Given the description of an element on the screen output the (x, y) to click on. 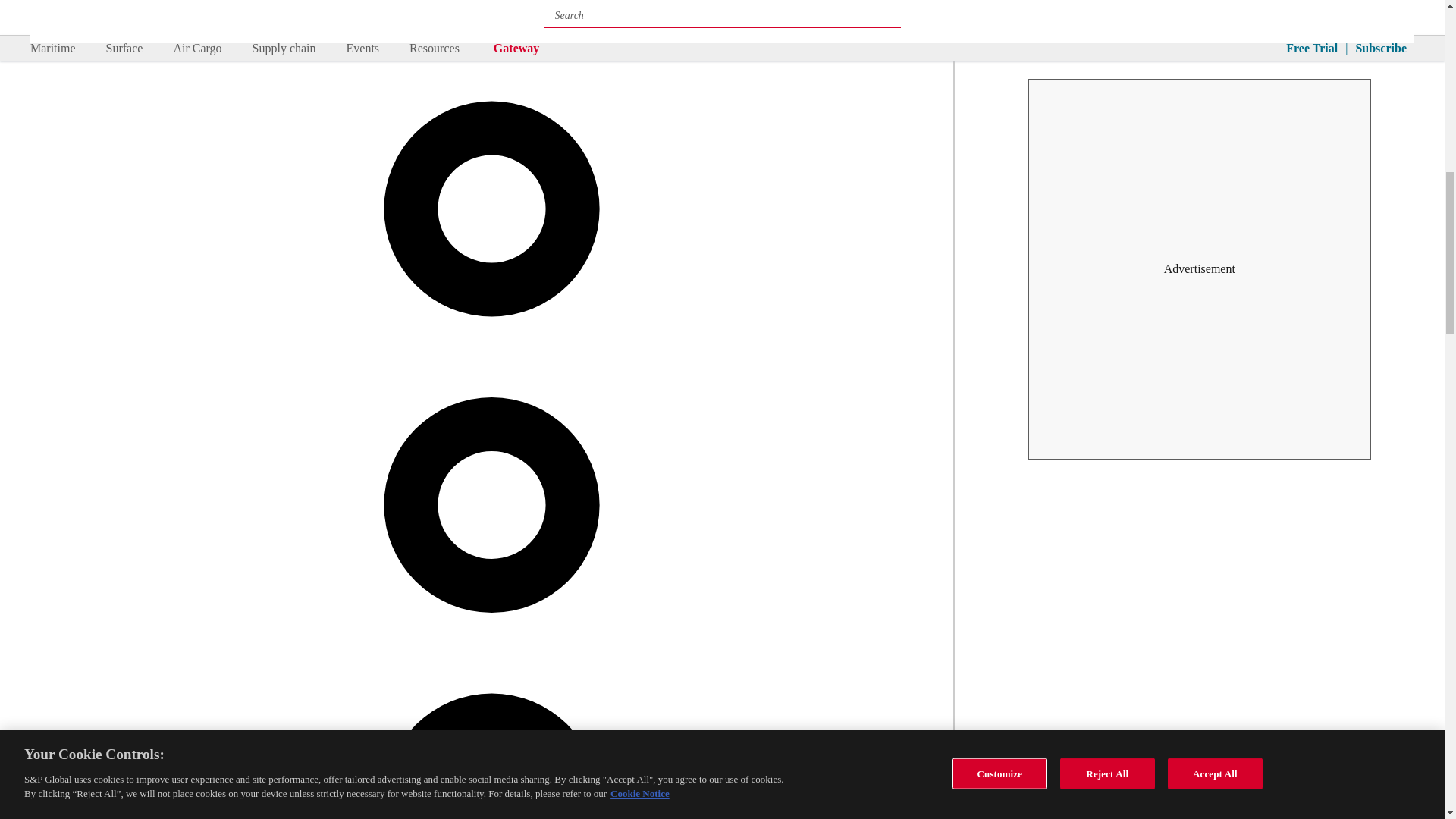
3rd party ad content (1199, 24)
3rd party ad content (1199, 268)
